Given the description of an element on the screen output the (x, y) to click on. 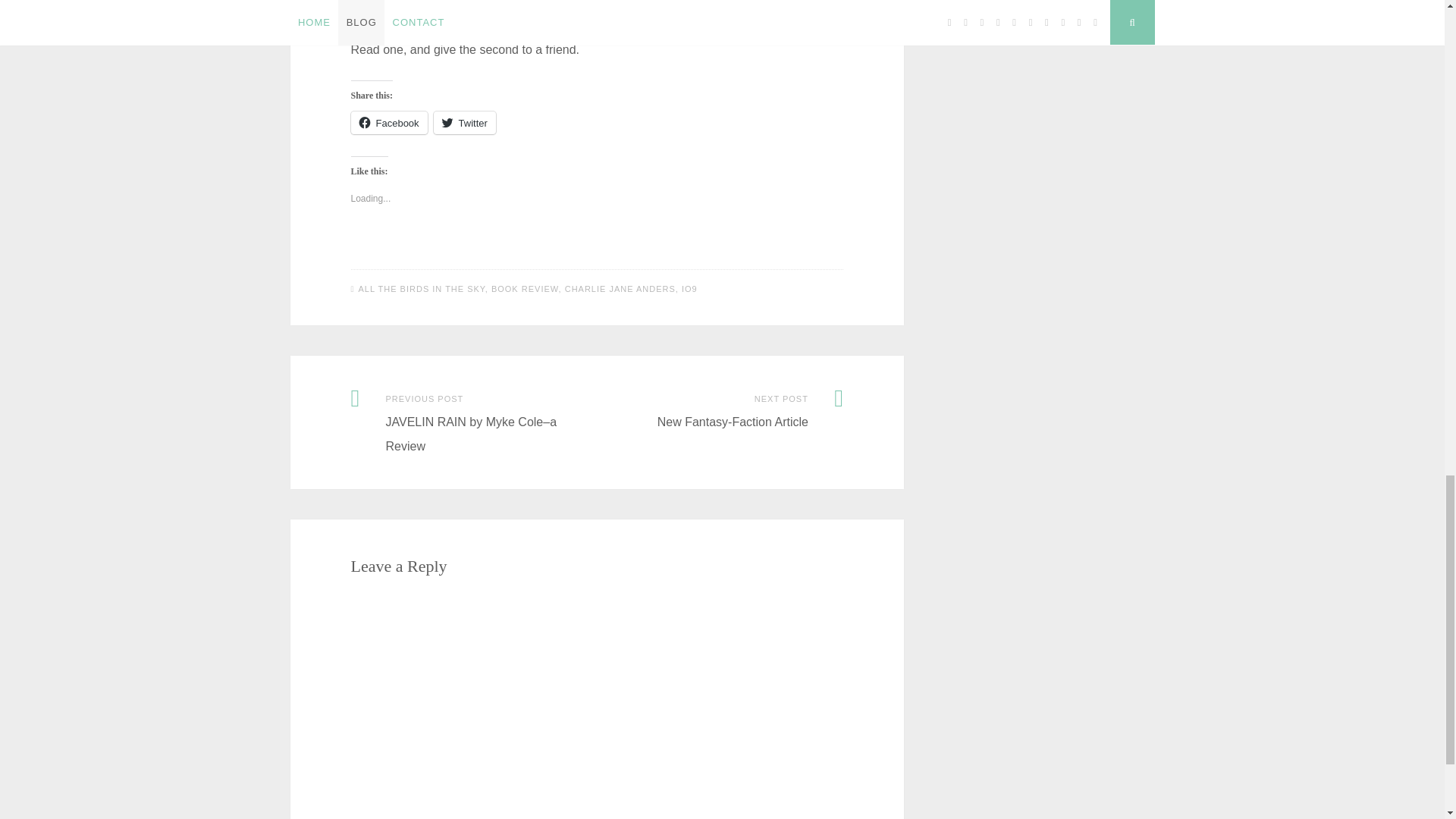
Click to share on Twitter (464, 122)
Click to share on Facebook (388, 122)
ALL THE BIRDS IN THE SKY (421, 288)
Facebook (388, 122)
Twitter (464, 122)
CHARLIE JANE ANDERS (619, 288)
Like or Reblog (596, 248)
BOOK REVIEW (525, 288)
IO9 (689, 288)
